Given the description of an element on the screen output the (x, y) to click on. 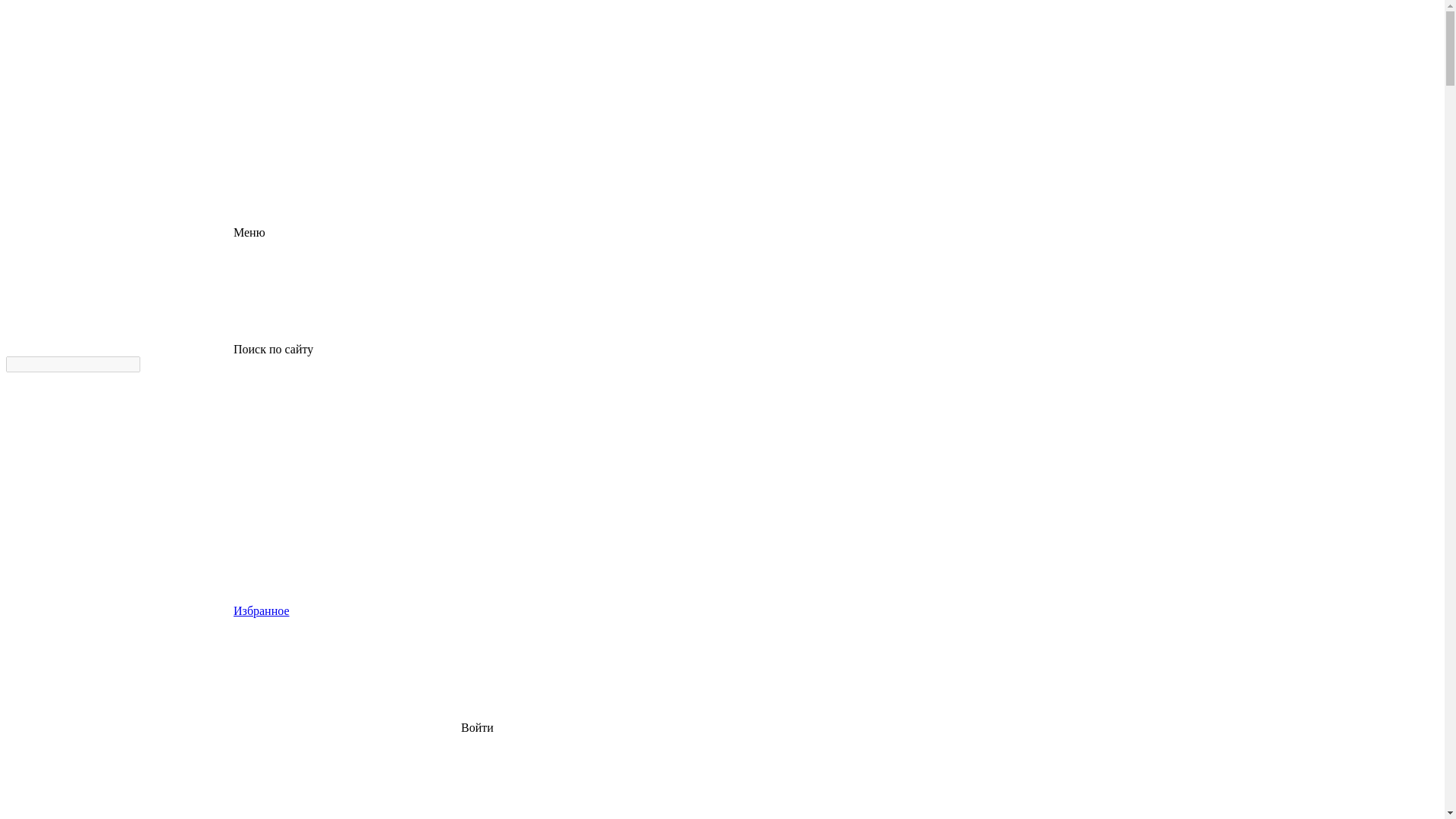
logo Element type: hover (119, 115)
logo Element type: hover (119, 62)
